Given the description of an element on the screen output the (x, y) to click on. 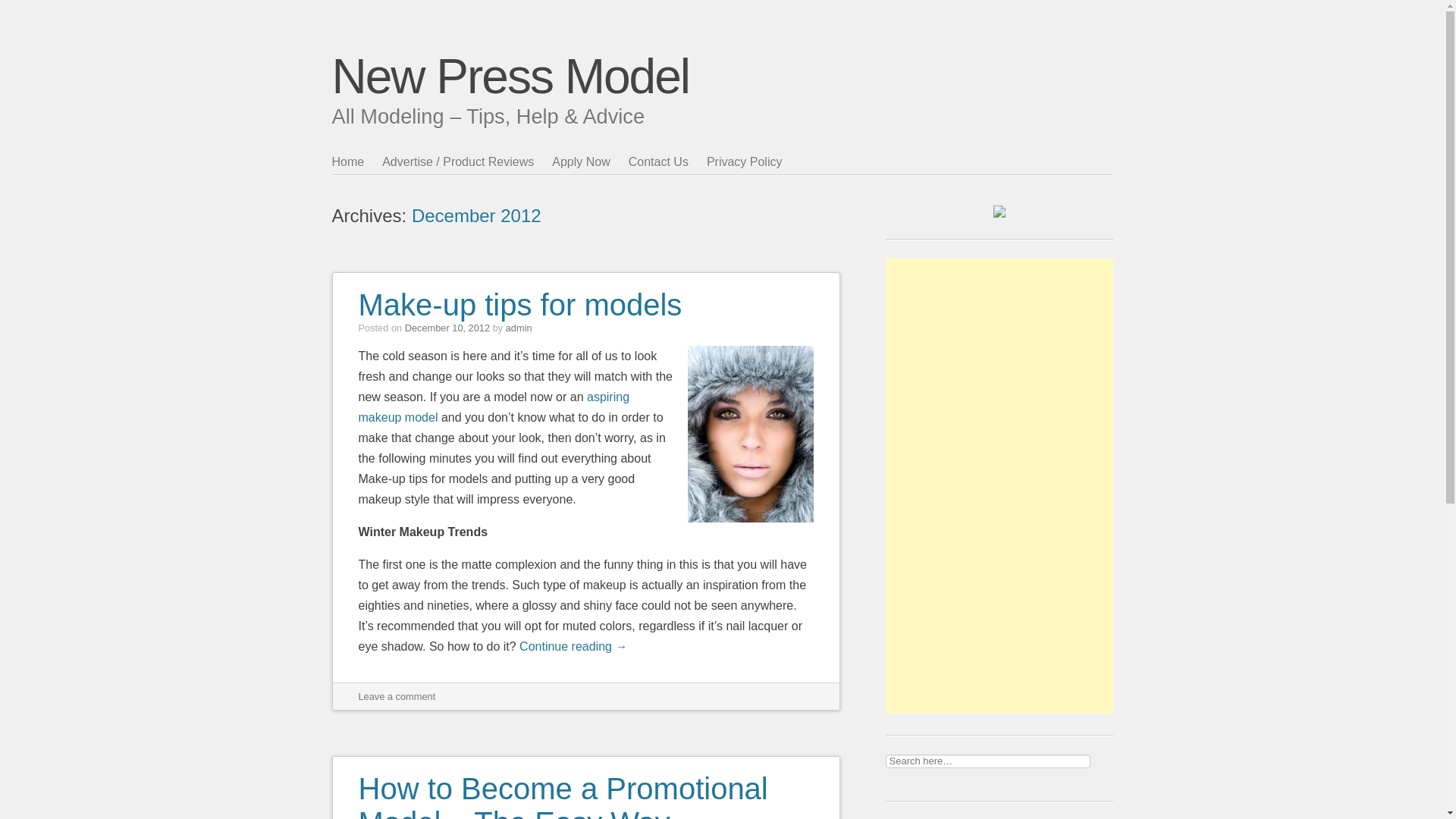
5:49 pm (446, 327)
aspiring makeup model (493, 407)
2012 (520, 215)
Main menu (390, 183)
Privacy Policy (753, 161)
Leave a comment (396, 696)
December 10, 2012 (446, 327)
New Press Model (510, 76)
Contact Us (667, 161)
Become a Model (493, 407)
